Given the description of an element on the screen output the (x, y) to click on. 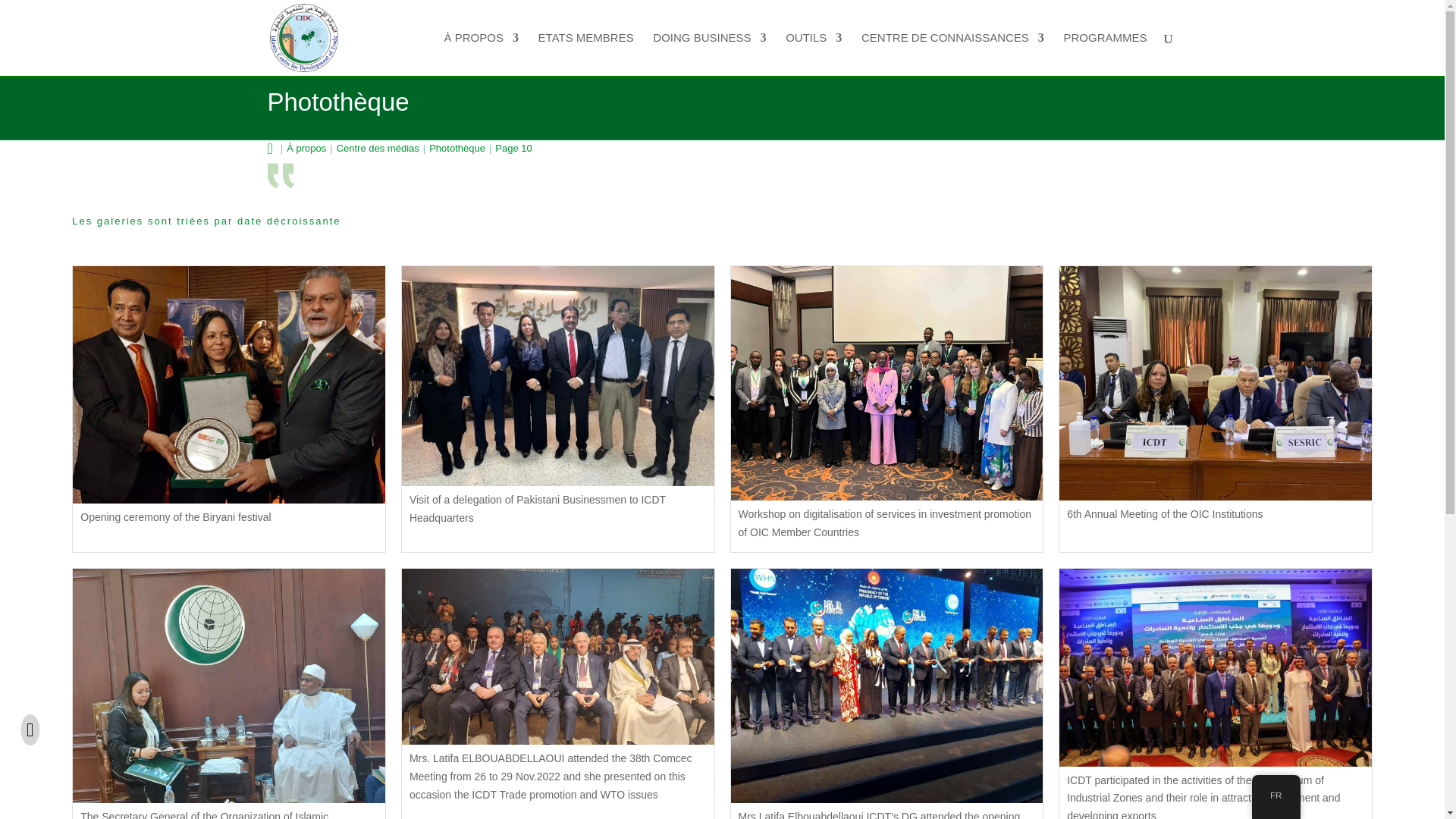
DOING BUSINESS (708, 54)
OUTILS (813, 54)
ETATS MEMBRES (585, 54)
CENTRE DE CONNAISSANCES (952, 54)
PROGRAMMES (1104, 54)
